Given the description of an element on the screen output the (x, y) to click on. 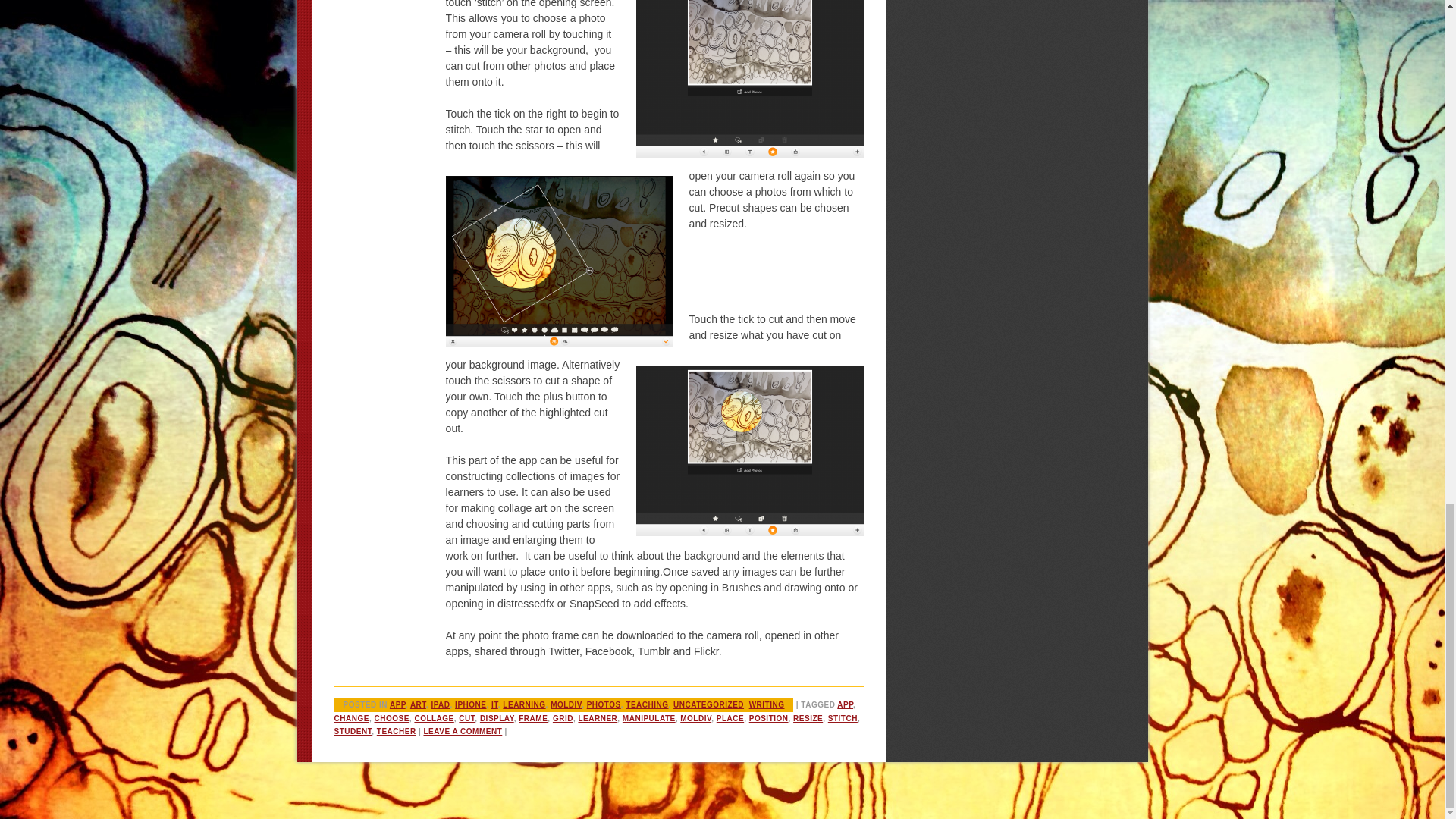
PHOTOS (603, 705)
MOLDIV (695, 718)
APP (398, 705)
GRID (563, 718)
CUT (466, 718)
PLACE (730, 718)
CHOOSE (391, 718)
TEACHING (647, 705)
LEARNING (523, 705)
LEARNER (597, 718)
